Given the description of an element on the screen output the (x, y) to click on. 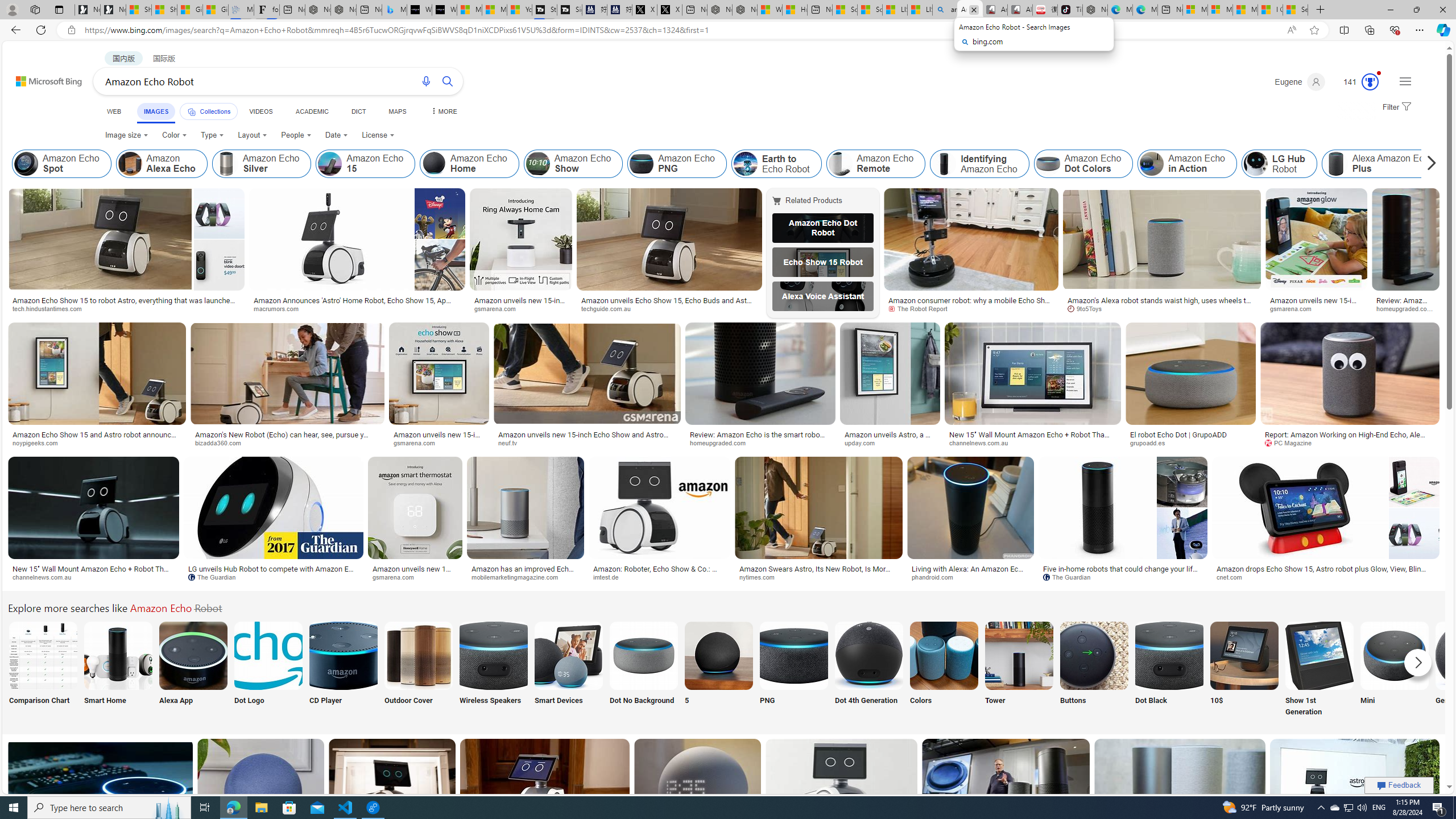
Living with Alexa: An Amazon Echo Review (970, 572)
Amazon Echo Outdoor Cover Outdoor Cover (418, 669)
nytimes.com (818, 576)
Amazon Echo Silver (261, 163)
Amazon Echo Colors Colors (944, 669)
Earth to Echo Robot (775, 163)
ACADEMIC (311, 111)
MORE (443, 111)
Wildlife - MSN (769, 9)
Layout (252, 135)
channelnews.com.au (93, 576)
